Given the description of an element on the screen output the (x, y) to click on. 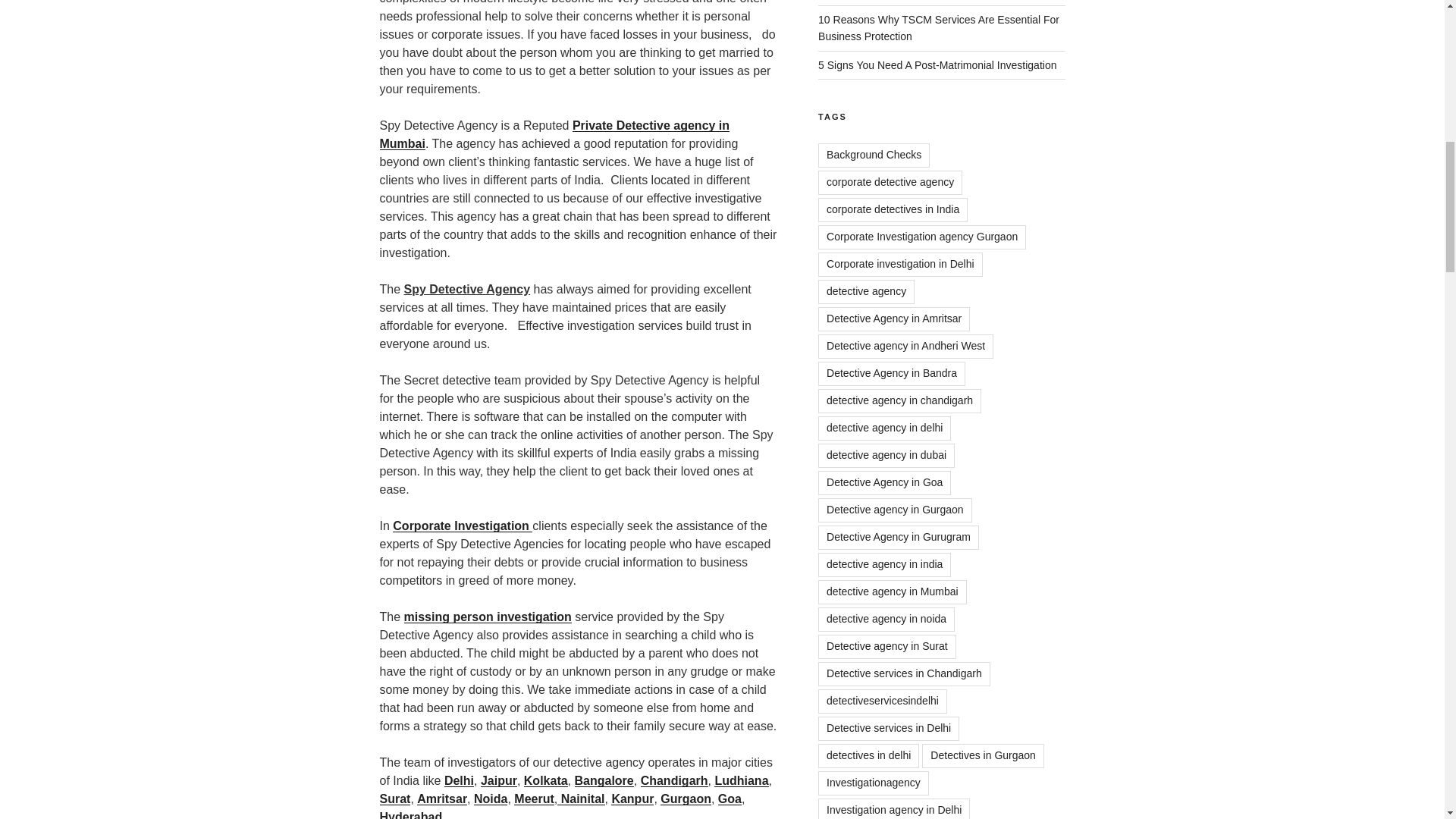
Kolkata (545, 780)
Surat (574, 805)
Private Detective agency in Mumbai (553, 133)
Corporate Investigation (461, 525)
Noida (490, 798)
missing person investigation (488, 616)
Amritsar (441, 798)
Goa (729, 798)
Gurgaon (686, 798)
Jaipur (498, 780)
